Given the description of an element on the screen output the (x, y) to click on. 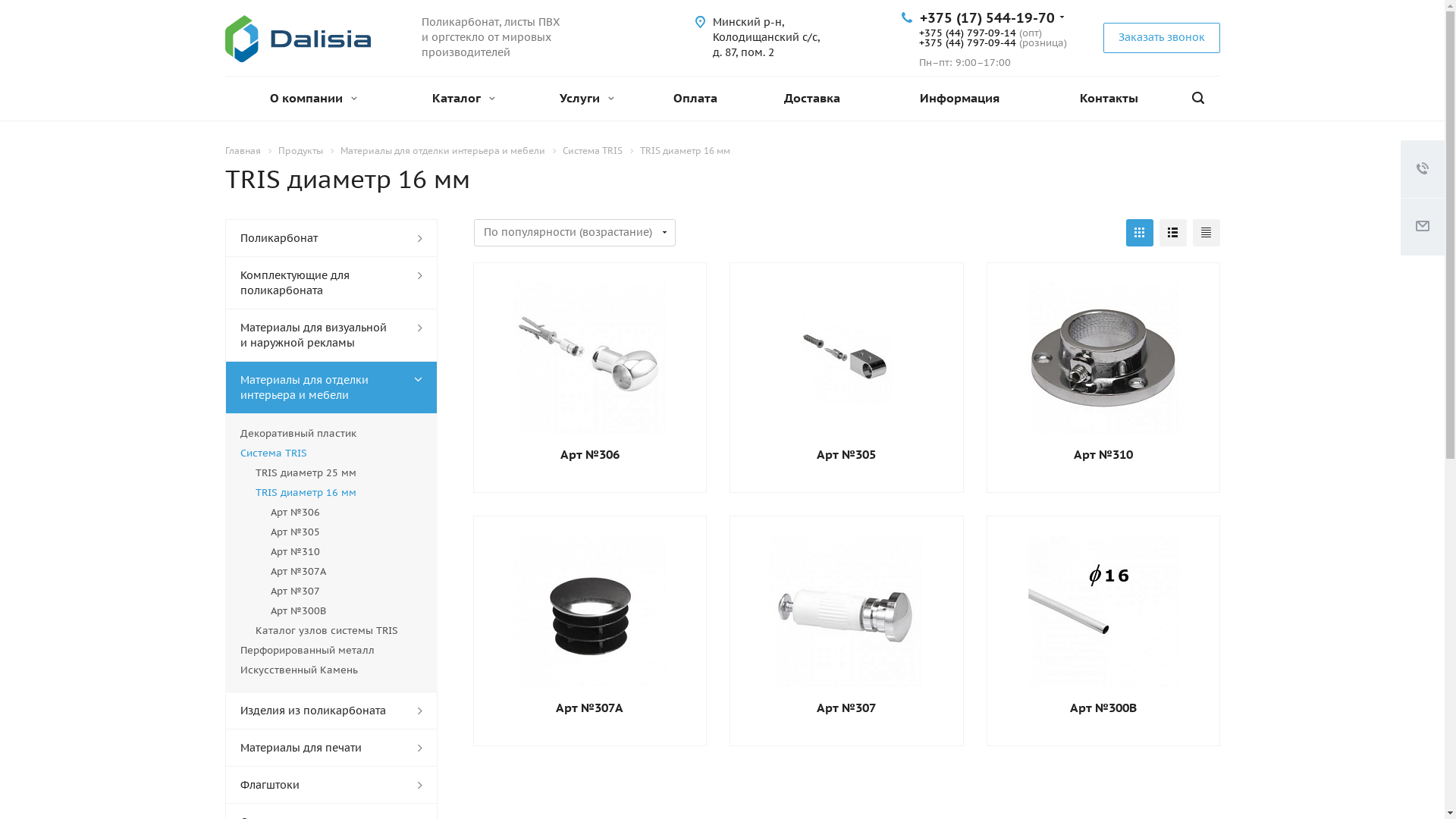
+375 (44) 797-09-14 Element type: text (967, 32)
+375 (17) 544-19-70 Element type: text (986, 17)
+375 (44) 797-09-44 Element type: text (967, 42)
